Given the description of an element on the screen output the (x, y) to click on. 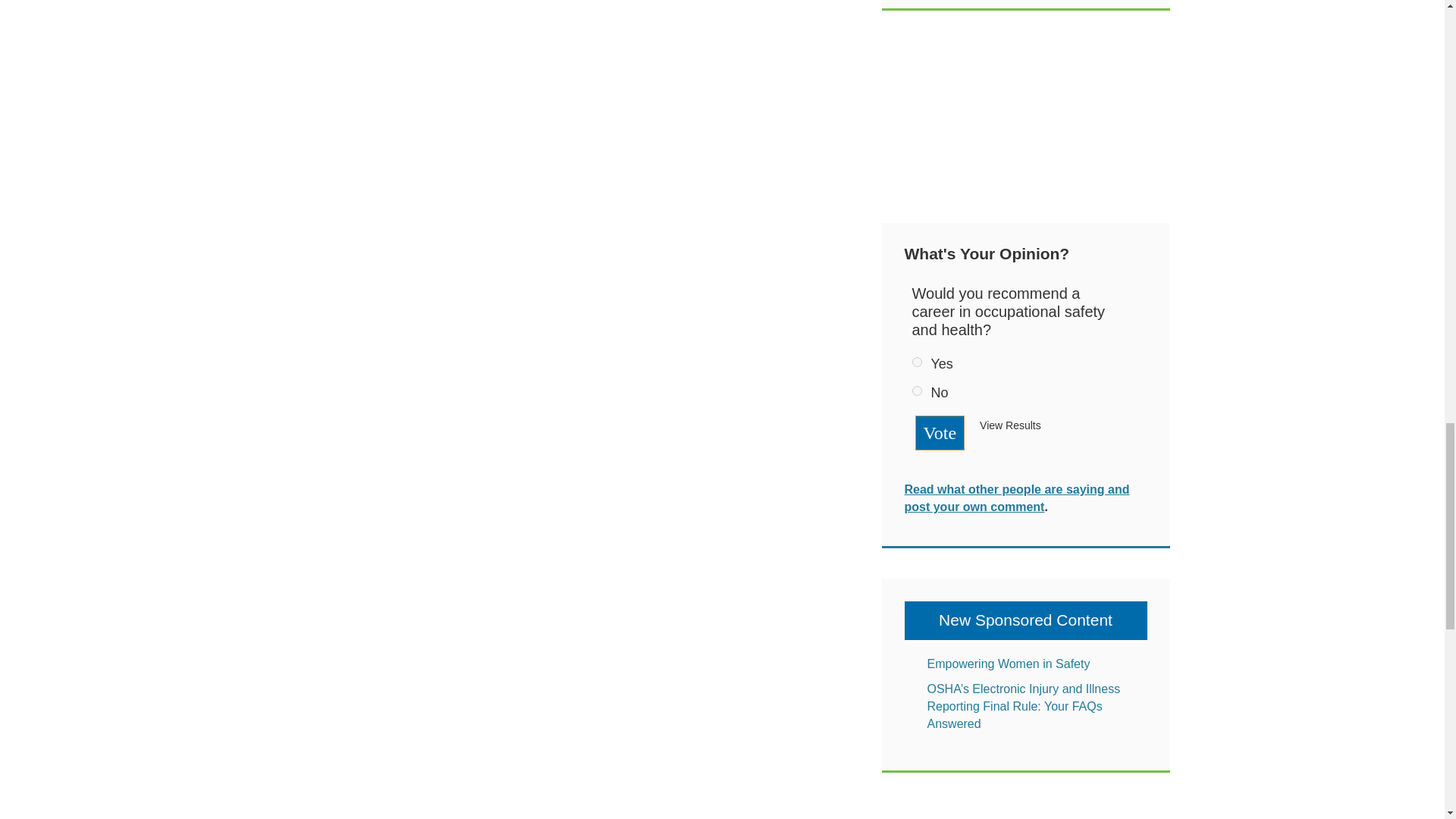
61339427 (916, 361)
61339428 (916, 390)
